Given the description of an element on the screen output the (x, y) to click on. 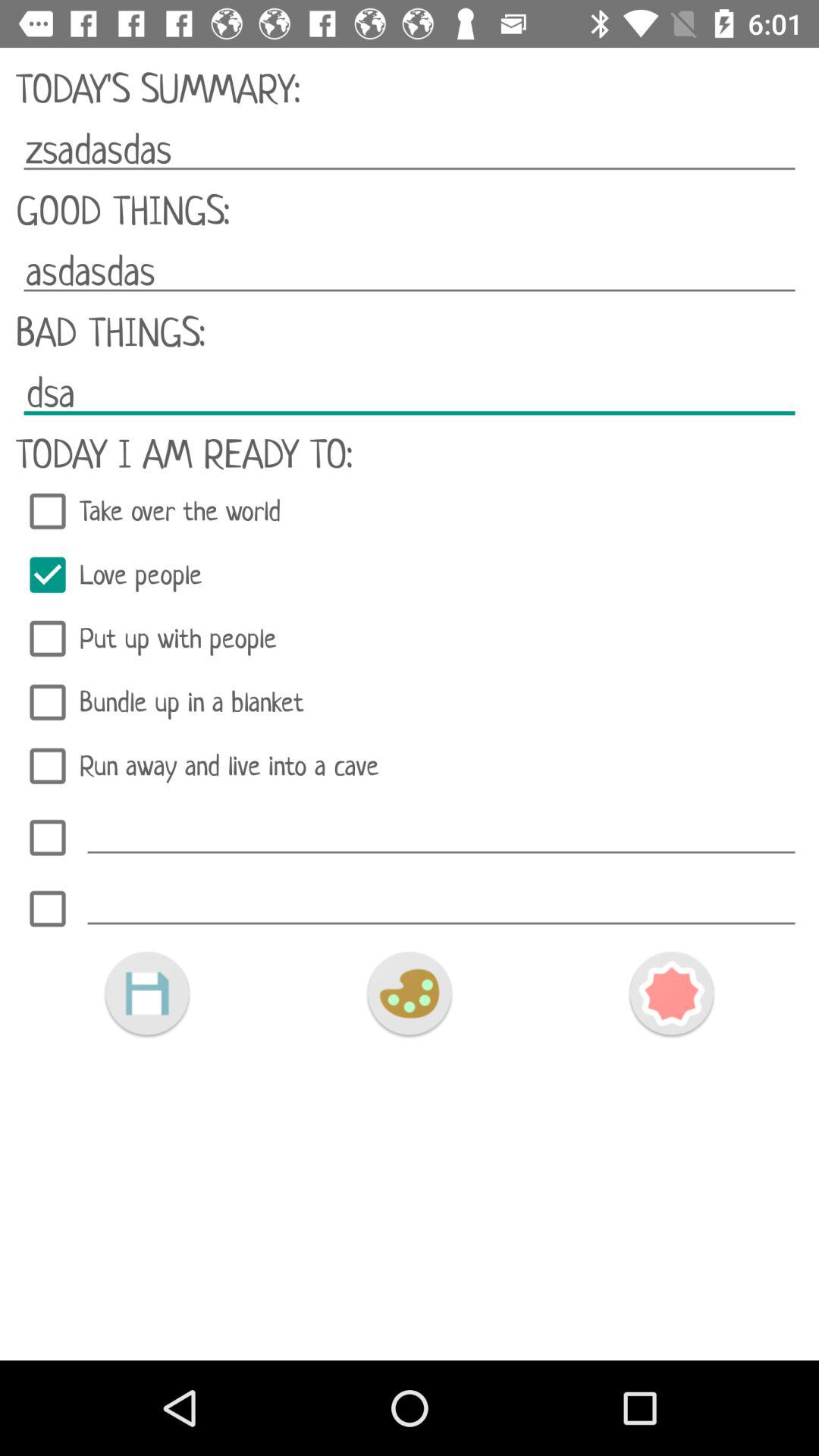
save content (146, 993)
